Given the description of an element on the screen output the (x, y) to click on. 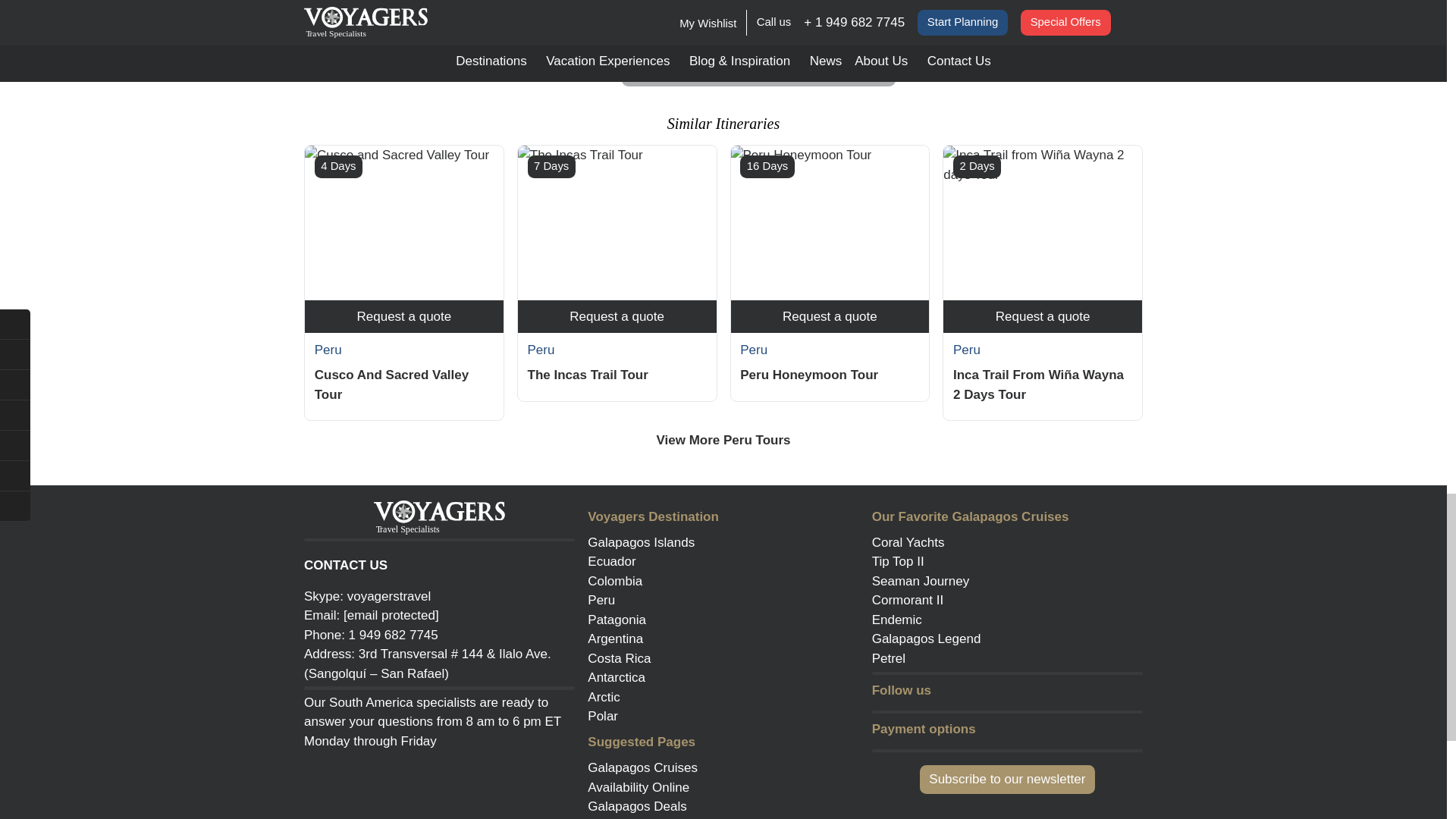
Cusco and Sacred Valley Tour (403, 222)
Peru Honeymoon Tour (830, 222)
The Incas Trail Tour (617, 222)
